Given the description of an element on the screen output the (x, y) to click on. 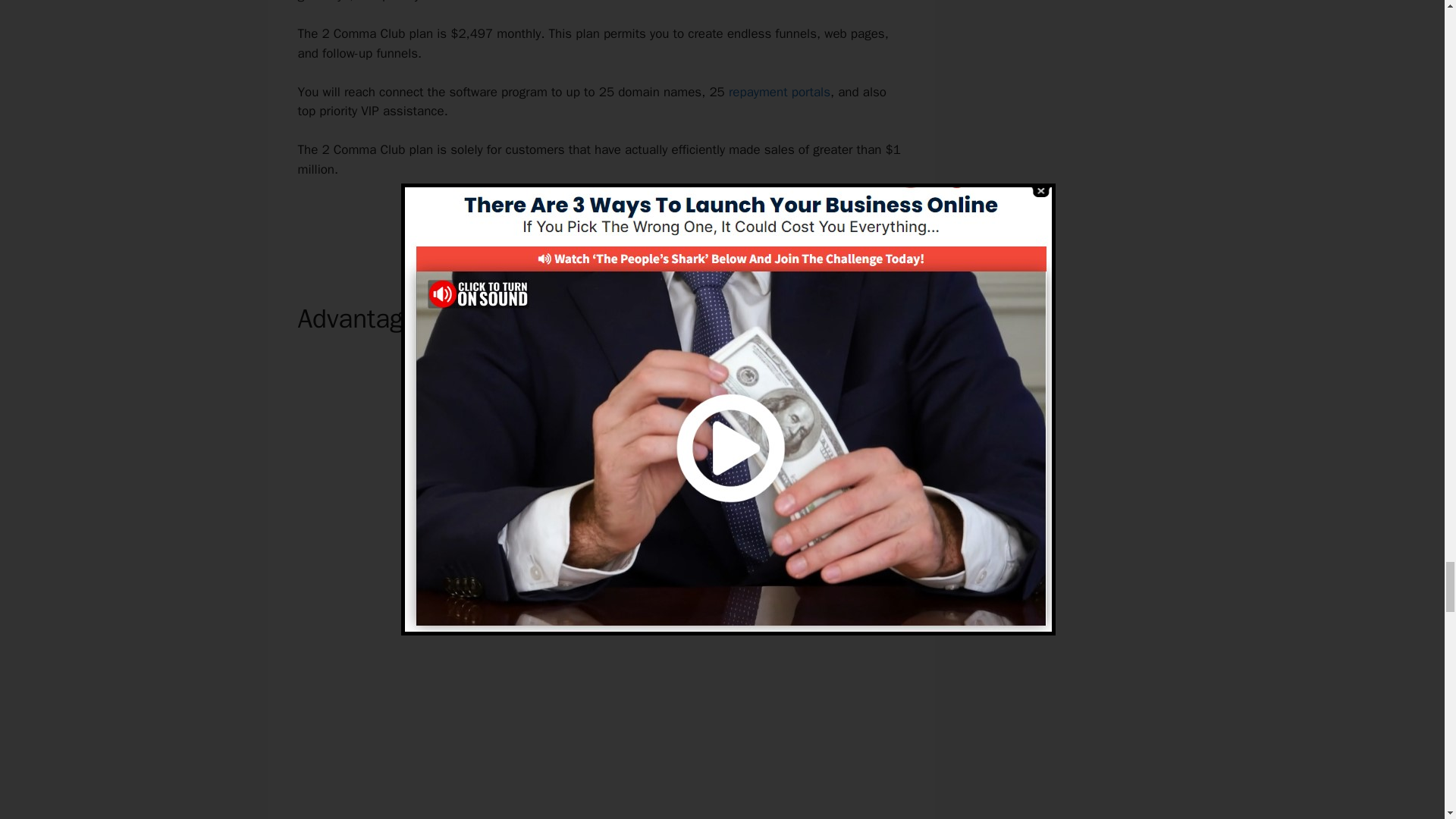
repayment portals (779, 91)
Build Your First Funnel For Free Today (600, 221)
